Given the description of an element on the screen output the (x, y) to click on. 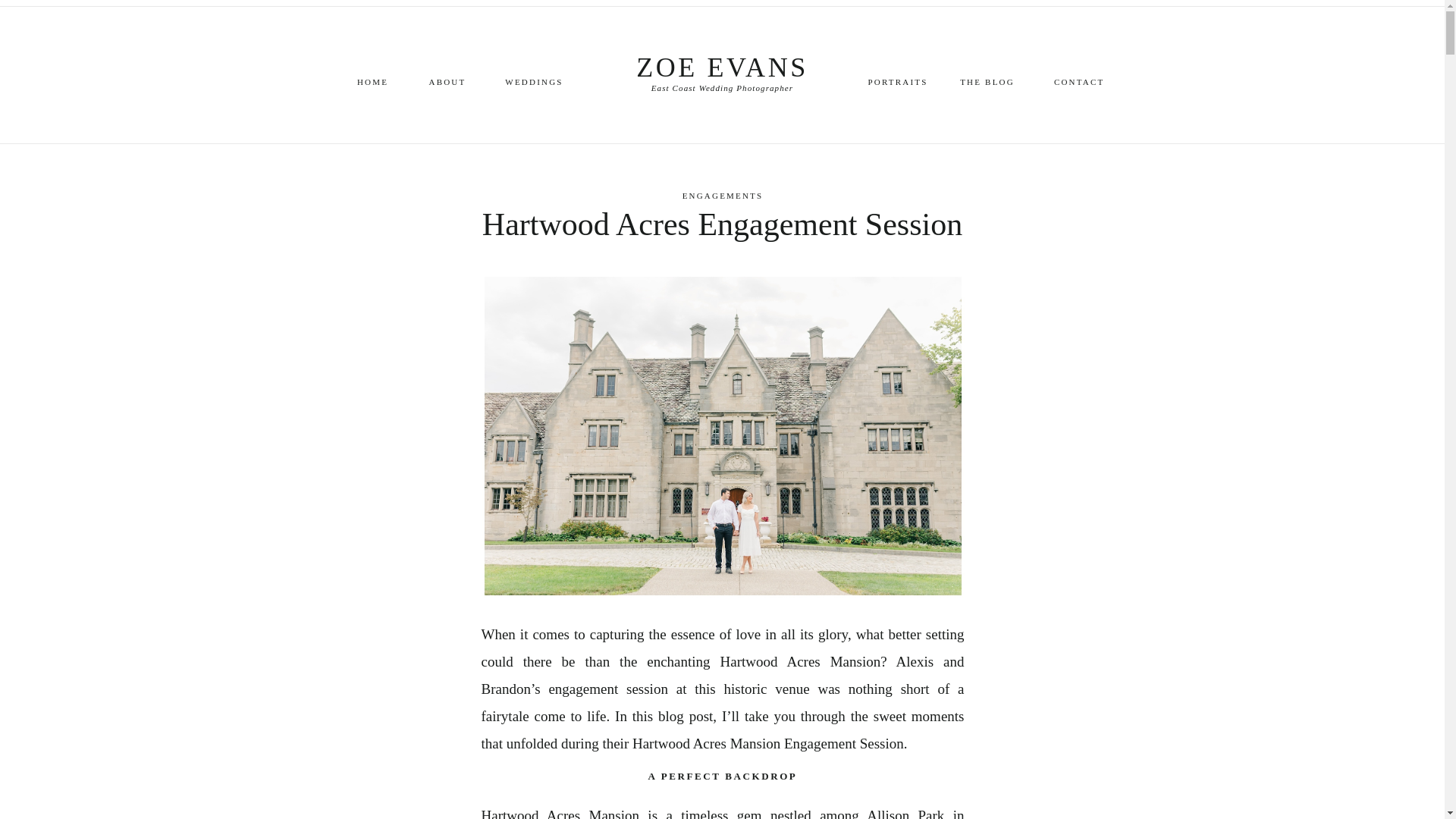
ABOUT (447, 80)
HOME (373, 80)
CONTACT  (1080, 80)
ENGAGEMENTS (722, 194)
PORTRAITS (898, 80)
THE BLOG (986, 80)
WEDDINGS (533, 80)
